Given the description of an element on the screen output the (x, y) to click on. 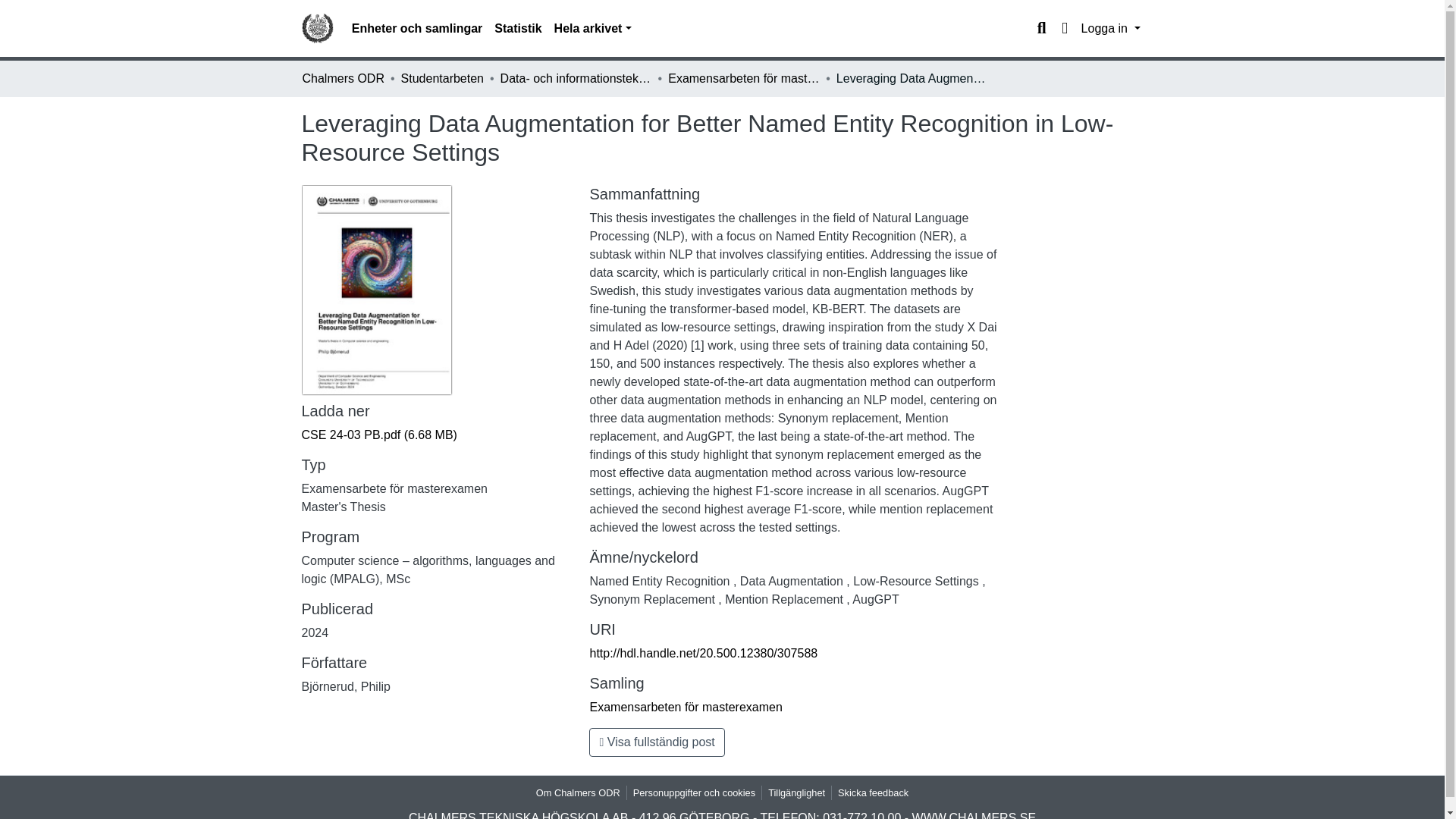
Personuppgifter och cookies (694, 792)
Om Chalmers ODR (577, 792)
Enheter och samlingar (417, 28)
Chalmers ODR (342, 78)
Skicka feedback (872, 792)
Hela arkivet (592, 28)
WWW.CHALMERS.SE (974, 815)
Statistik (517, 28)
Logga in (1110, 28)
Studentarbeten (442, 78)
